Given the description of an element on the screen output the (x, y) to click on. 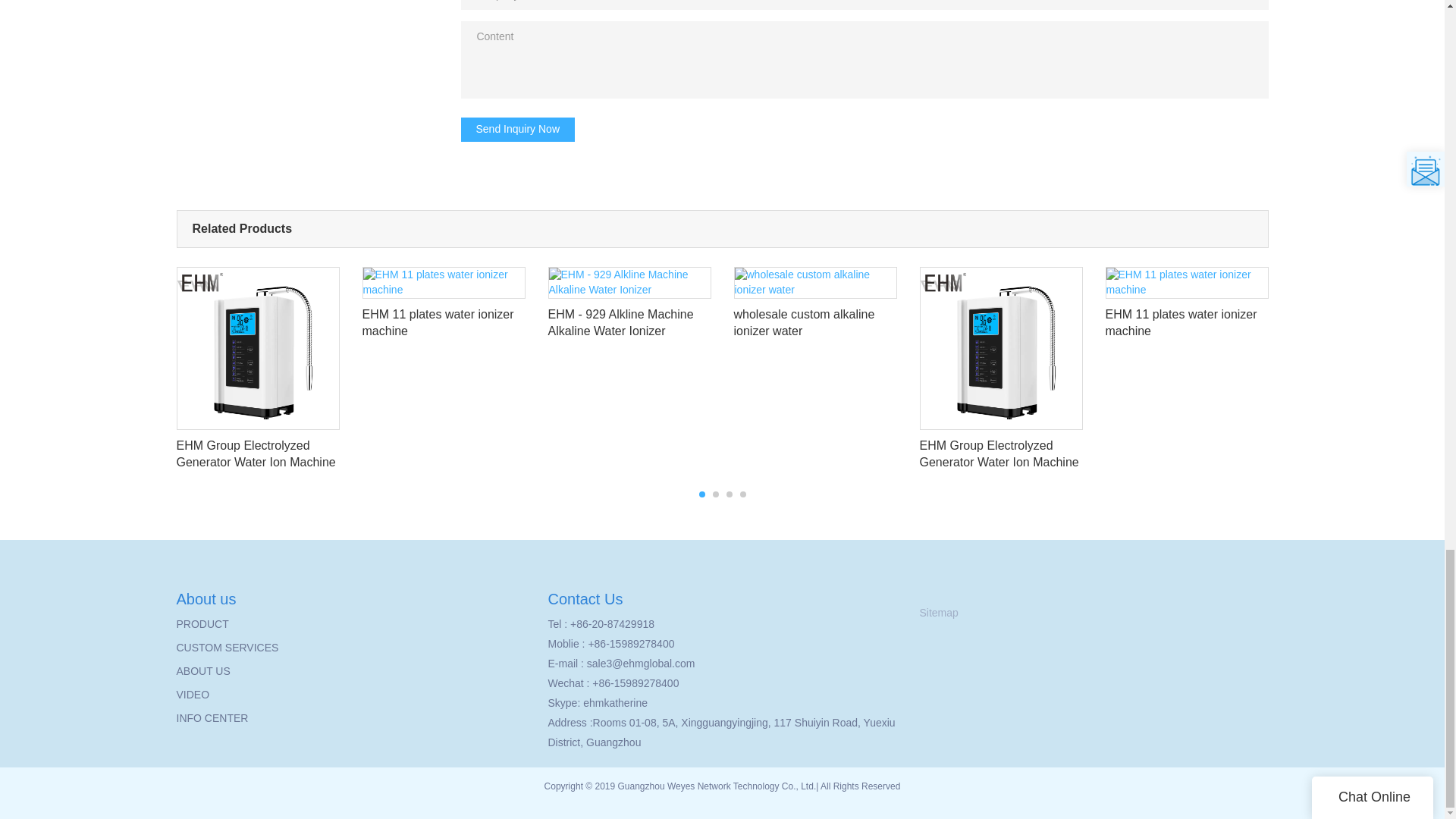
wholesale custom alkaline ionizer water (814, 307)
EHM 11 plates water ionizer machine (443, 307)
EHM - 929 Alkline Machine Alkaline Water Ionizer (628, 307)
Send Inquiry Now (518, 129)
